Given the description of an element on the screen output the (x, y) to click on. 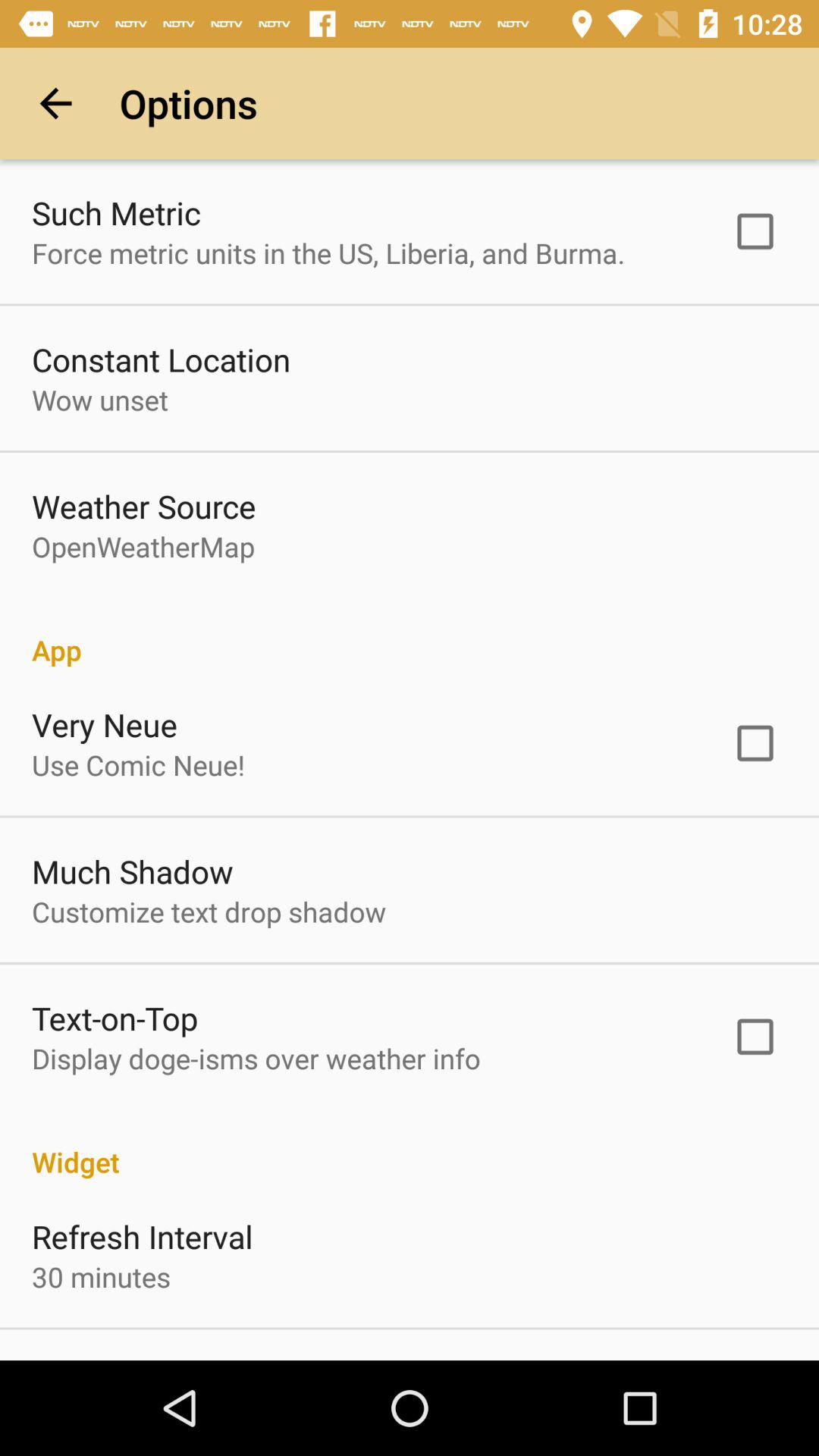
select item above the 30 minutes app (142, 1236)
